Given the description of an element on the screen output the (x, y) to click on. 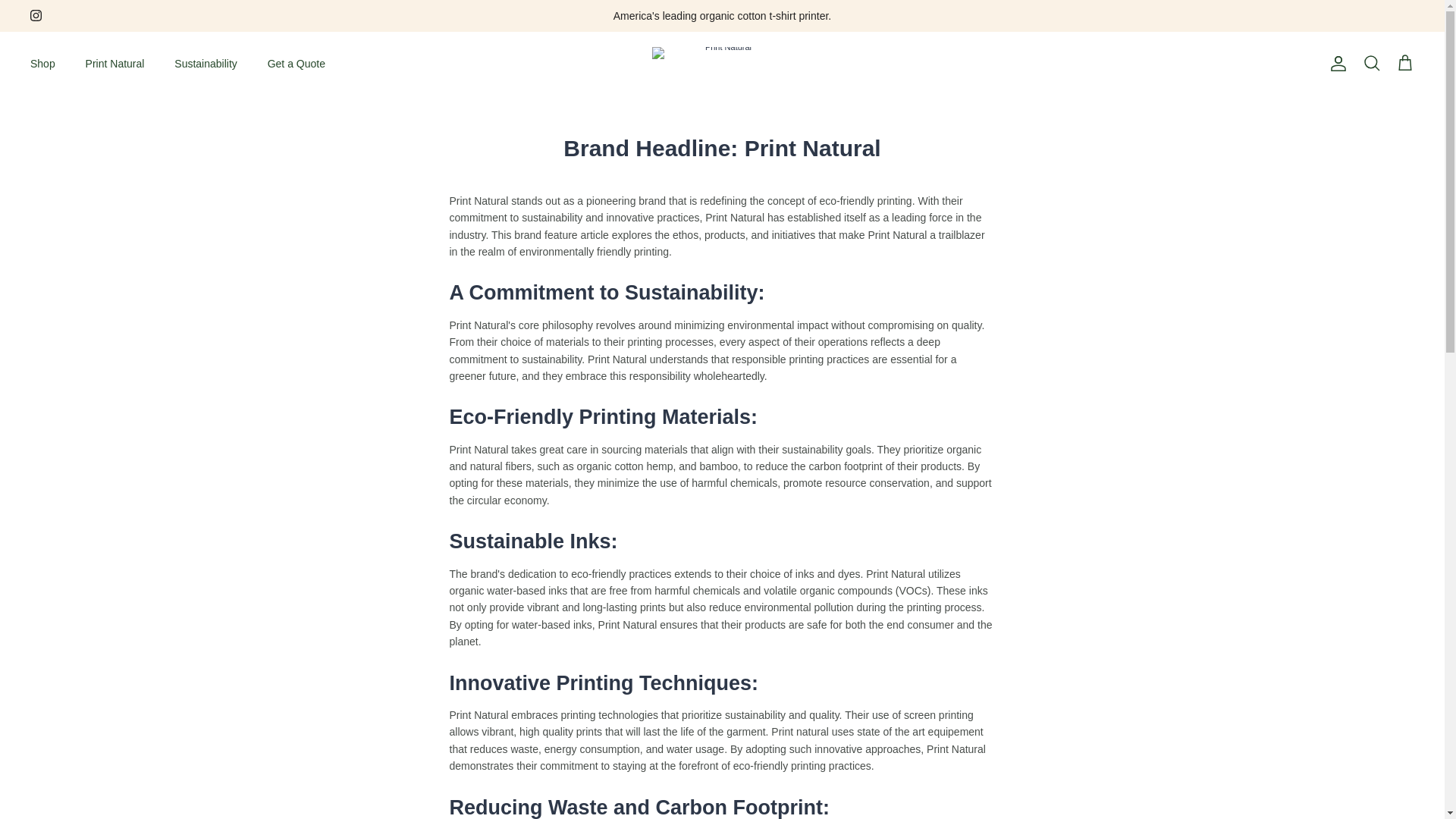
Get a Quote (296, 63)
Shop (42, 63)
Sustainability (205, 63)
Instagram (36, 15)
Instagram (36, 15)
Print Natural (114, 63)
Search (1371, 63)
Account (1335, 63)
Cart (1404, 63)
Print Natural (722, 63)
